Given the description of an element on the screen output the (x, y) to click on. 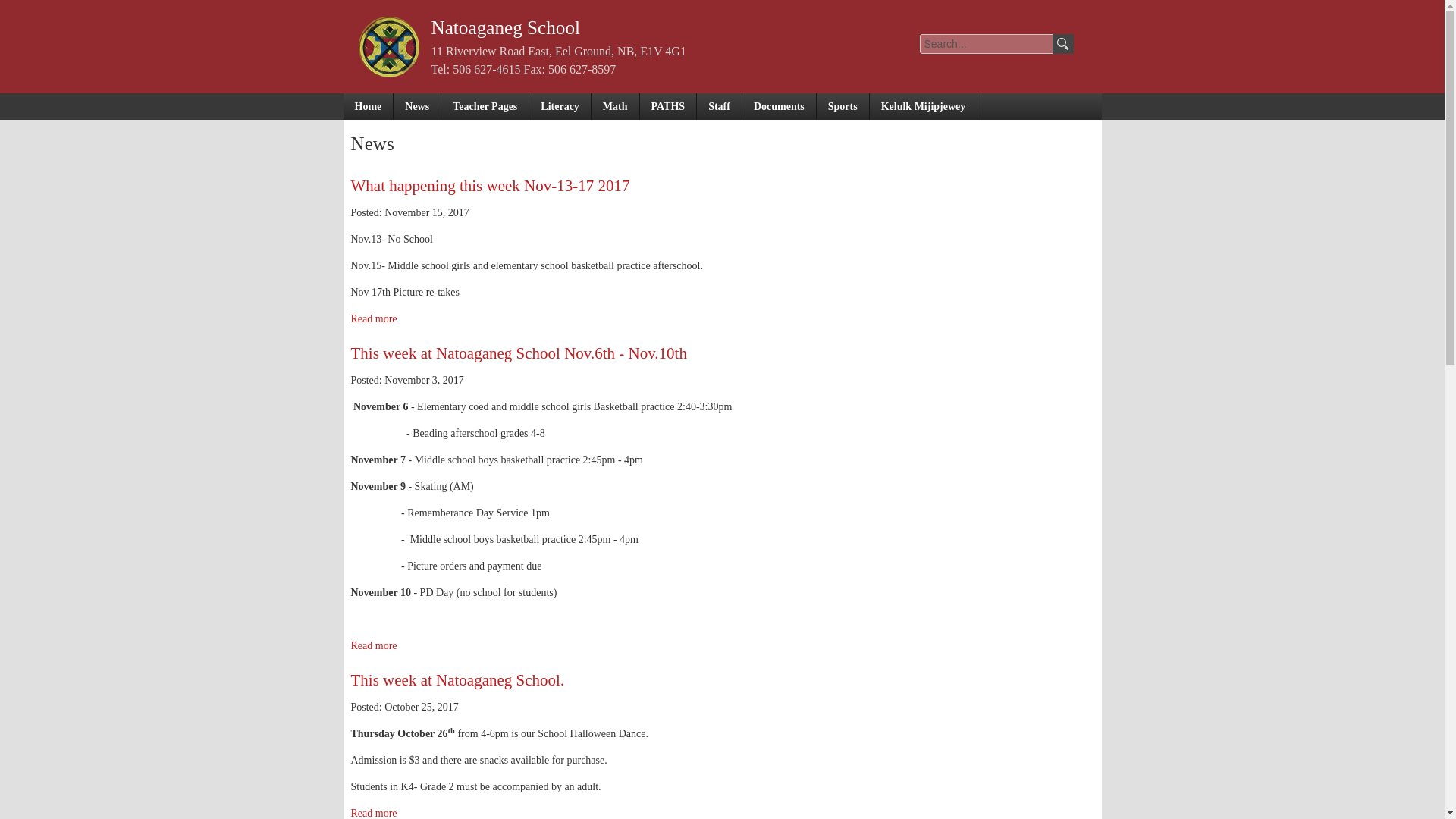
Search... (986, 44)
Sports (842, 106)
What happening this week Nov-13-17 2017 (489, 185)
Read more (373, 318)
Math (615, 106)
Math (615, 106)
Search (1063, 44)
Documents (779, 106)
Staff (719, 106)
Natoaganeg School (504, 27)
Read more (373, 645)
Literacy (560, 106)
Read more (373, 813)
Kelulk Mijipjewey (923, 106)
